Given the description of an element on the screen output the (x, y) to click on. 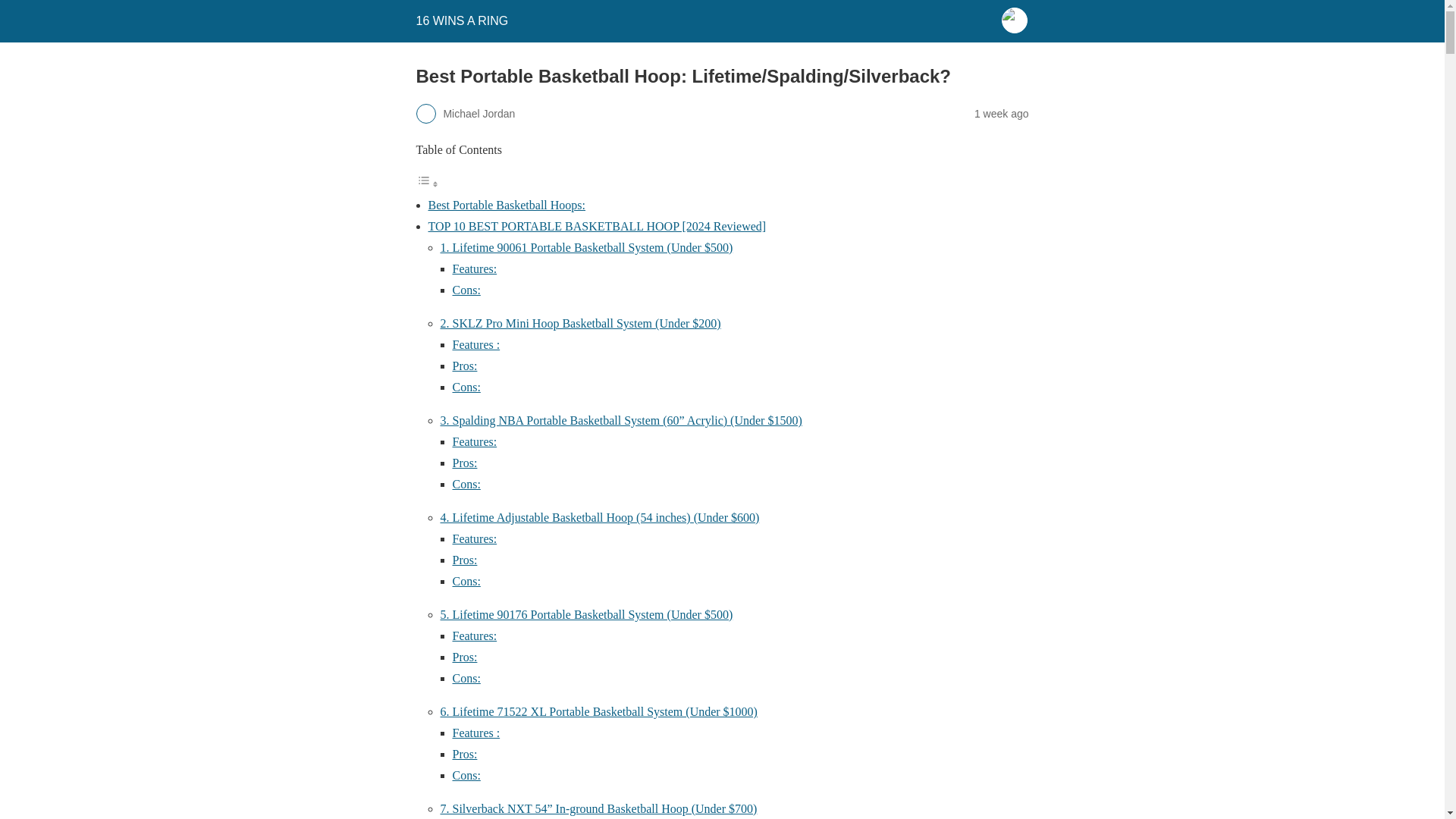
Pros: (464, 462)
Best Portable Basketball Hoops: (506, 205)
Pros: (464, 559)
Pros: (464, 656)
Pros: (464, 753)
Cons: (465, 386)
Cons: (465, 386)
Features: (473, 268)
Cons: (465, 289)
Features: (473, 635)
